Given the description of an element on the screen output the (x, y) to click on. 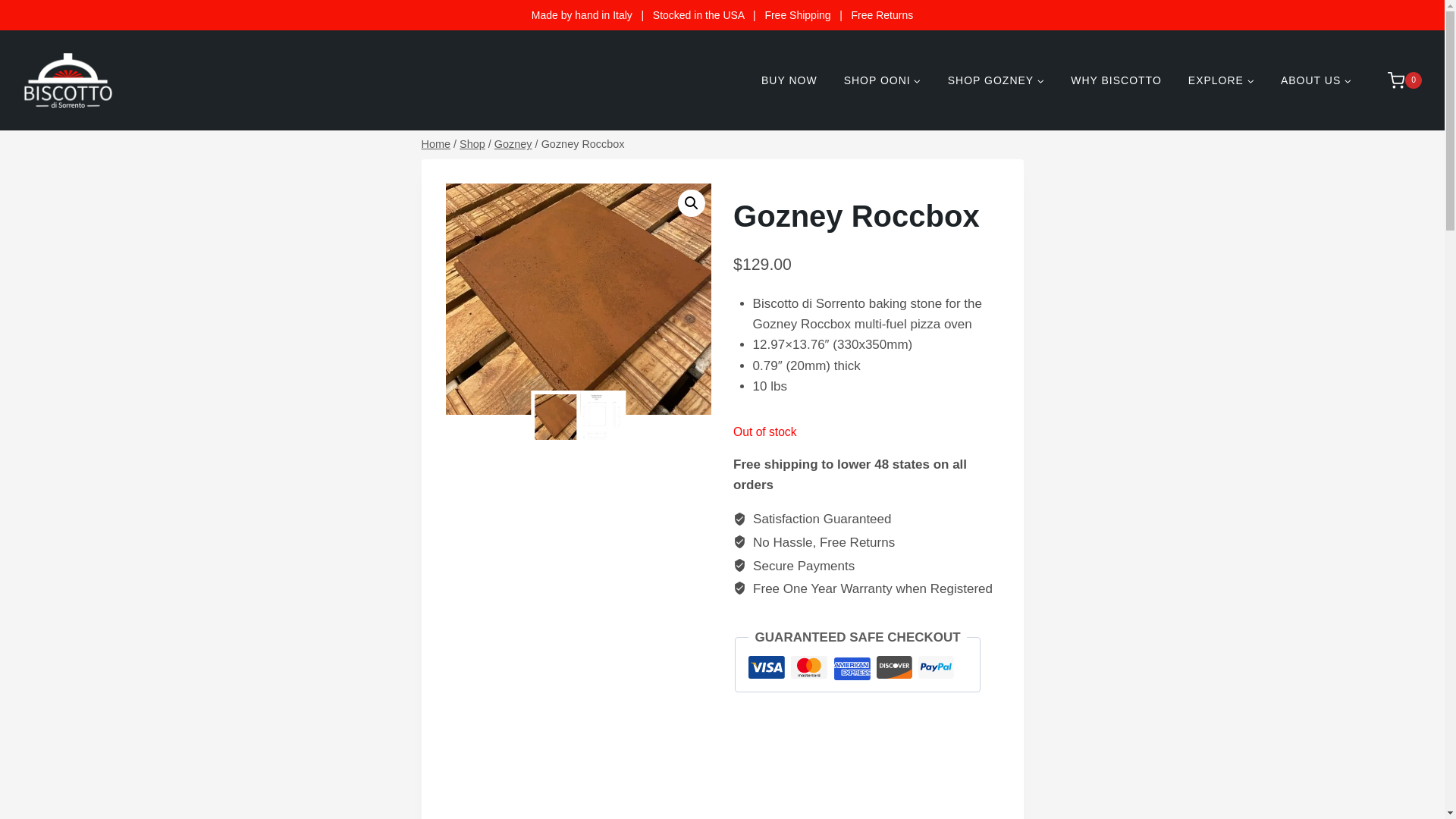
Home (436, 143)
other-e1702305377281 (578, 299)
SHOP OONI (881, 79)
BUY NOW (789, 79)
SHOP GOZNEY (995, 79)
WHY BISCOTTO (1116, 79)
ABOUT US (1315, 79)
0 (1397, 80)
EXPLORE (1220, 79)
